Given the description of an element on the screen output the (x, y) to click on. 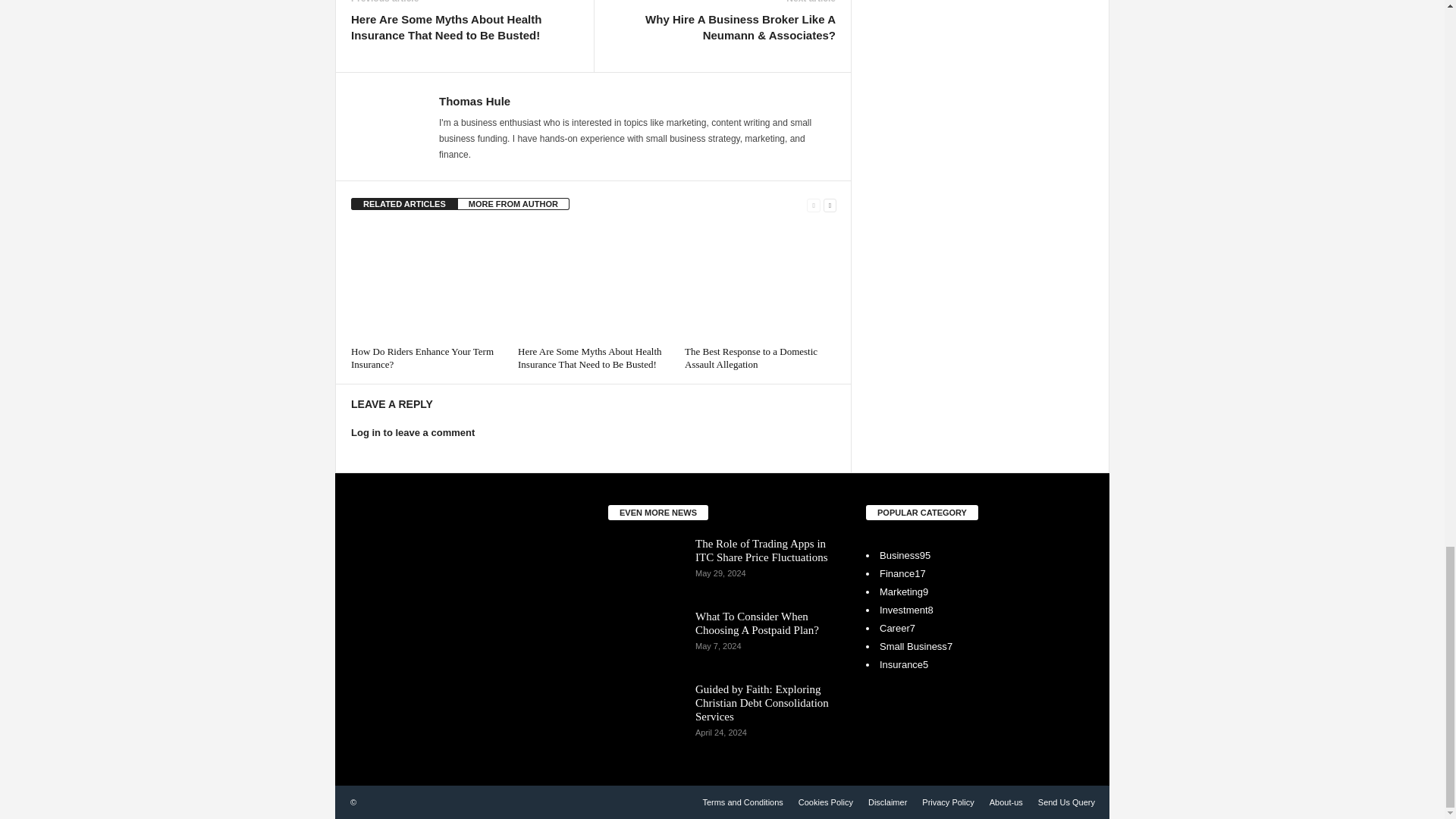
How Do Riders Enhance Your Term Insurance? (426, 283)
